Given the description of an element on the screen output the (x, y) to click on. 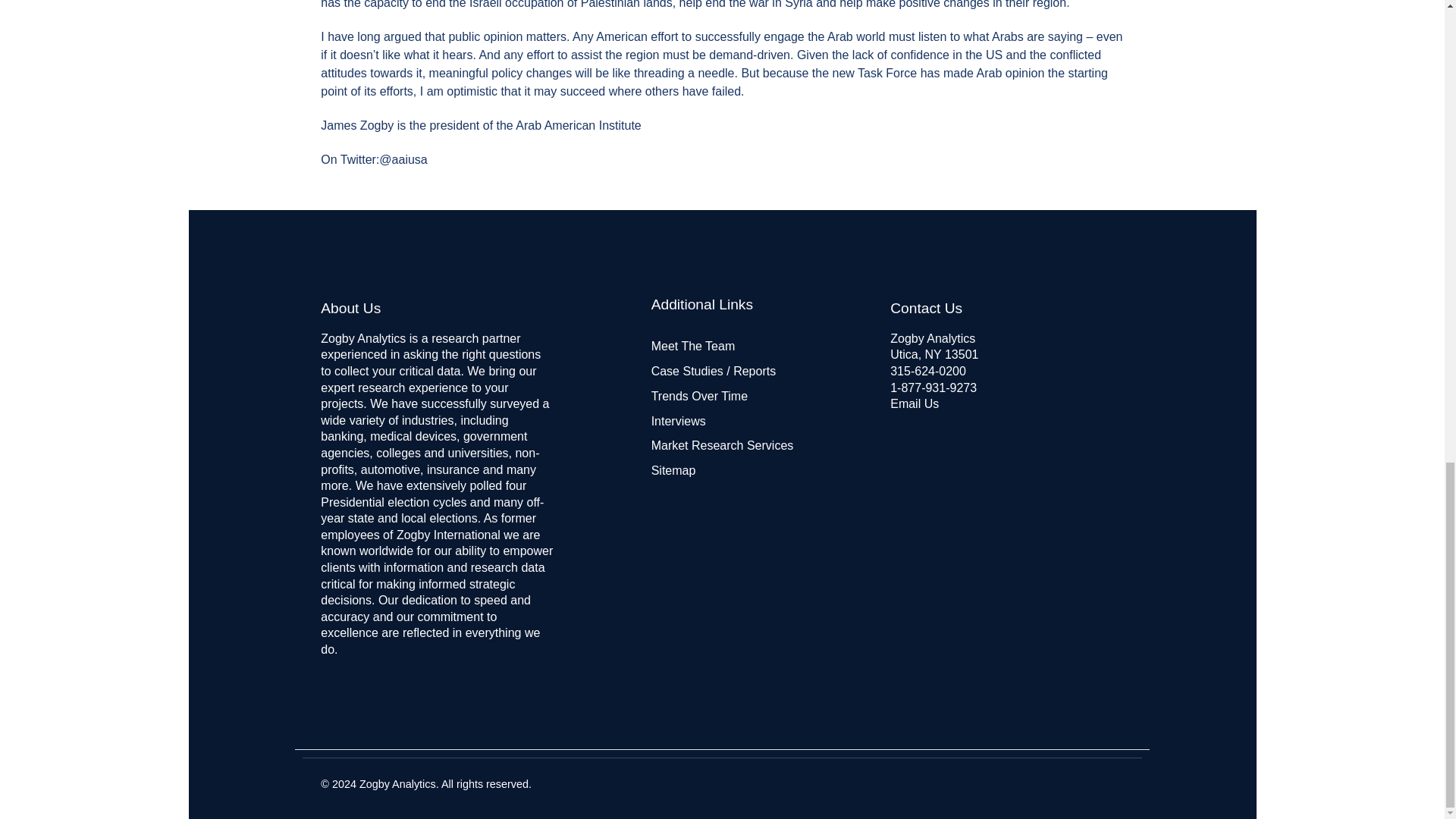
Market Research Services (721, 445)
Trends Over Time (699, 395)
Meet The Team (692, 345)
Interviews (678, 420)
Sitemap (672, 470)
Email Us (914, 403)
Interviews (678, 420)
Trends Over Time (699, 395)
Sitemap (672, 470)
Market Research Services (721, 445)
